Given the description of an element on the screen output the (x, y) to click on. 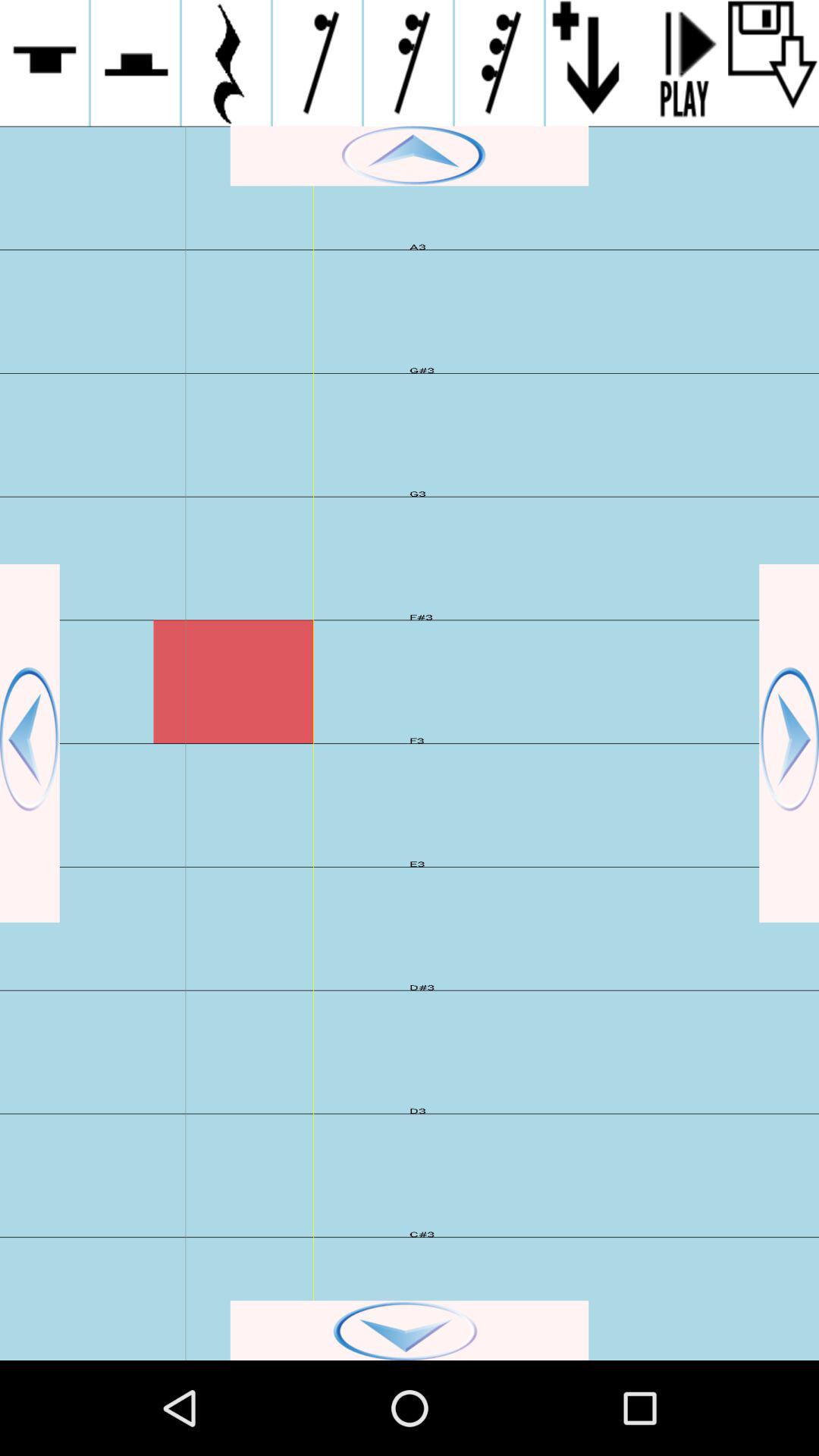
go to next page (789, 742)
